Given the description of an element on the screen output the (x, y) to click on. 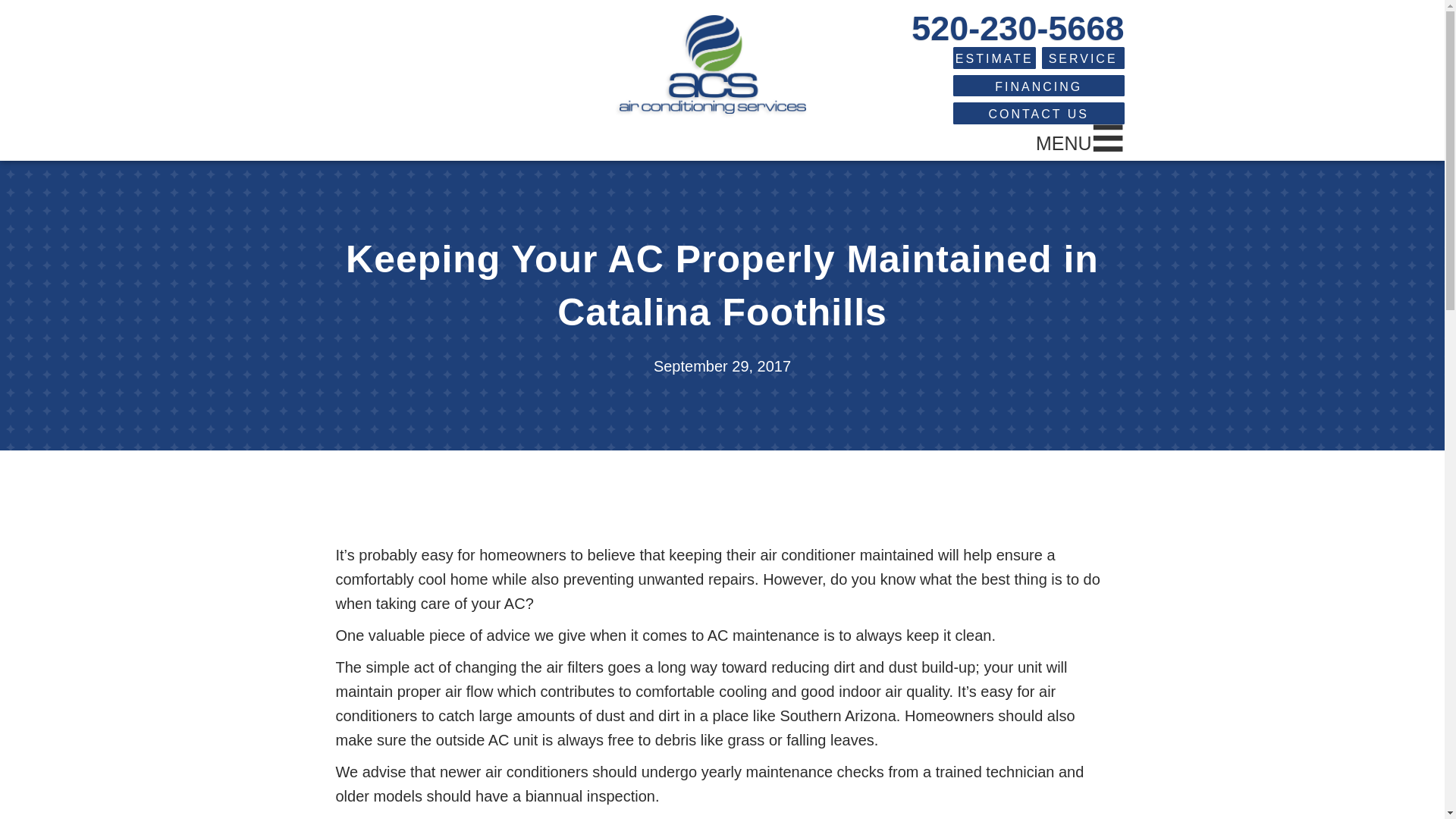
SERVICE (1083, 57)
CONTACT US (1038, 113)
FINANCING (1038, 86)
ESTIMATE (994, 57)
logo-fullsize (713, 64)
520-230-5668 (1017, 28)
